Given the description of an element on the screen output the (x, y) to click on. 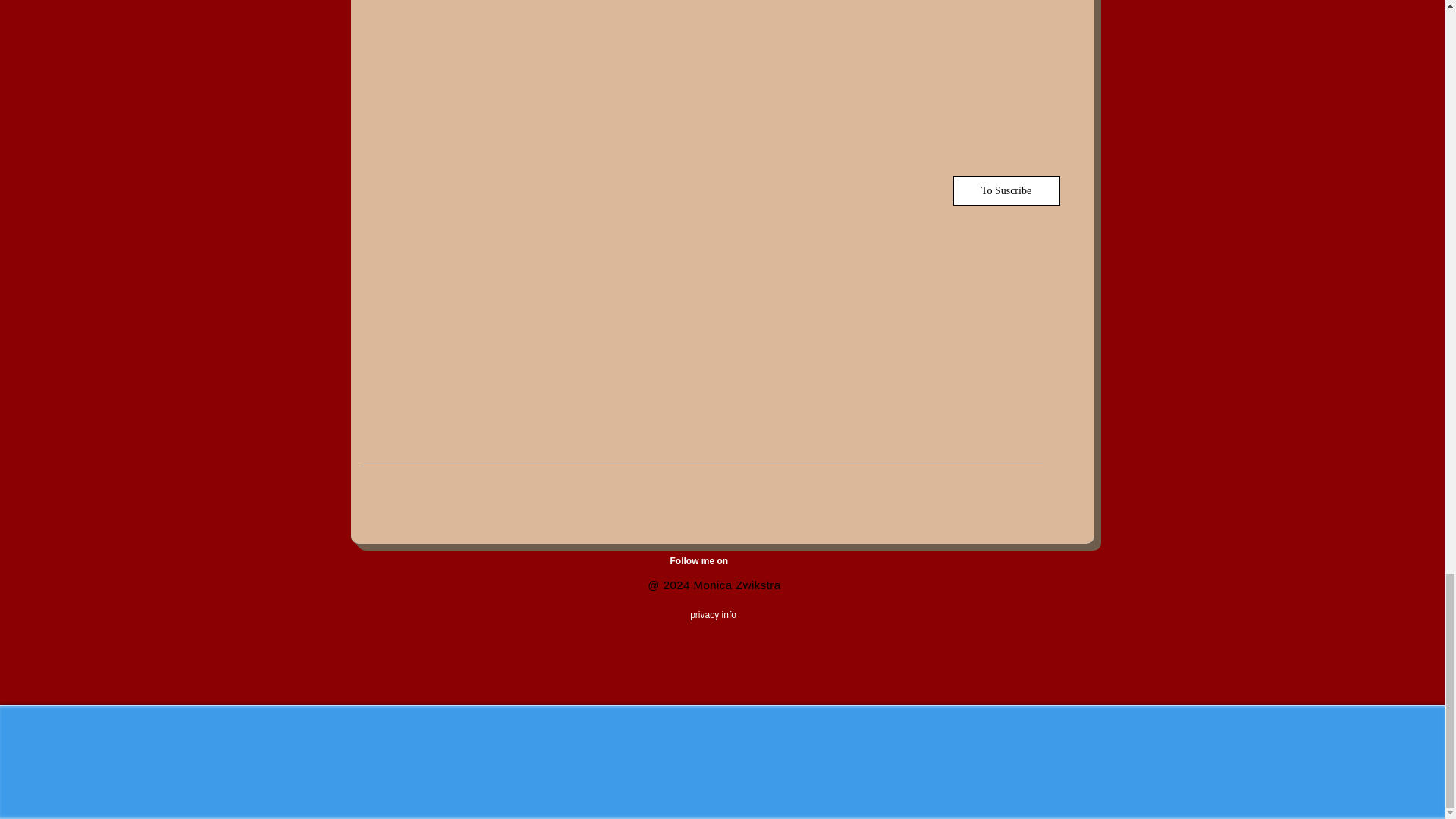
                                      privacy info  (666, 614)
To Suscribe (1005, 190)
privacy policy  (710, 659)
